Given the description of an element on the screen output the (x, y) to click on. 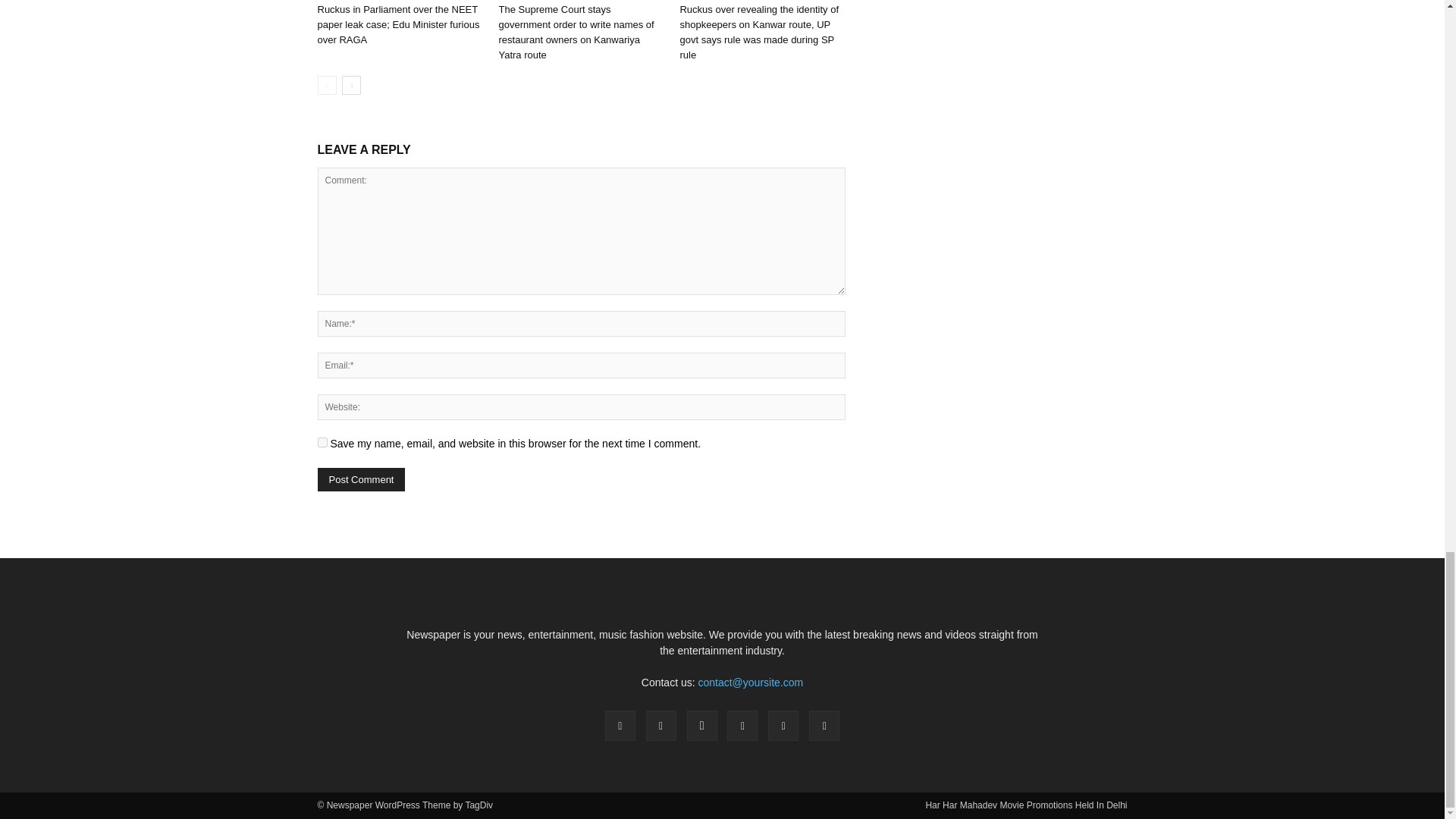
yes (321, 442)
Post Comment (360, 479)
